Given the description of an element on the screen output the (x, y) to click on. 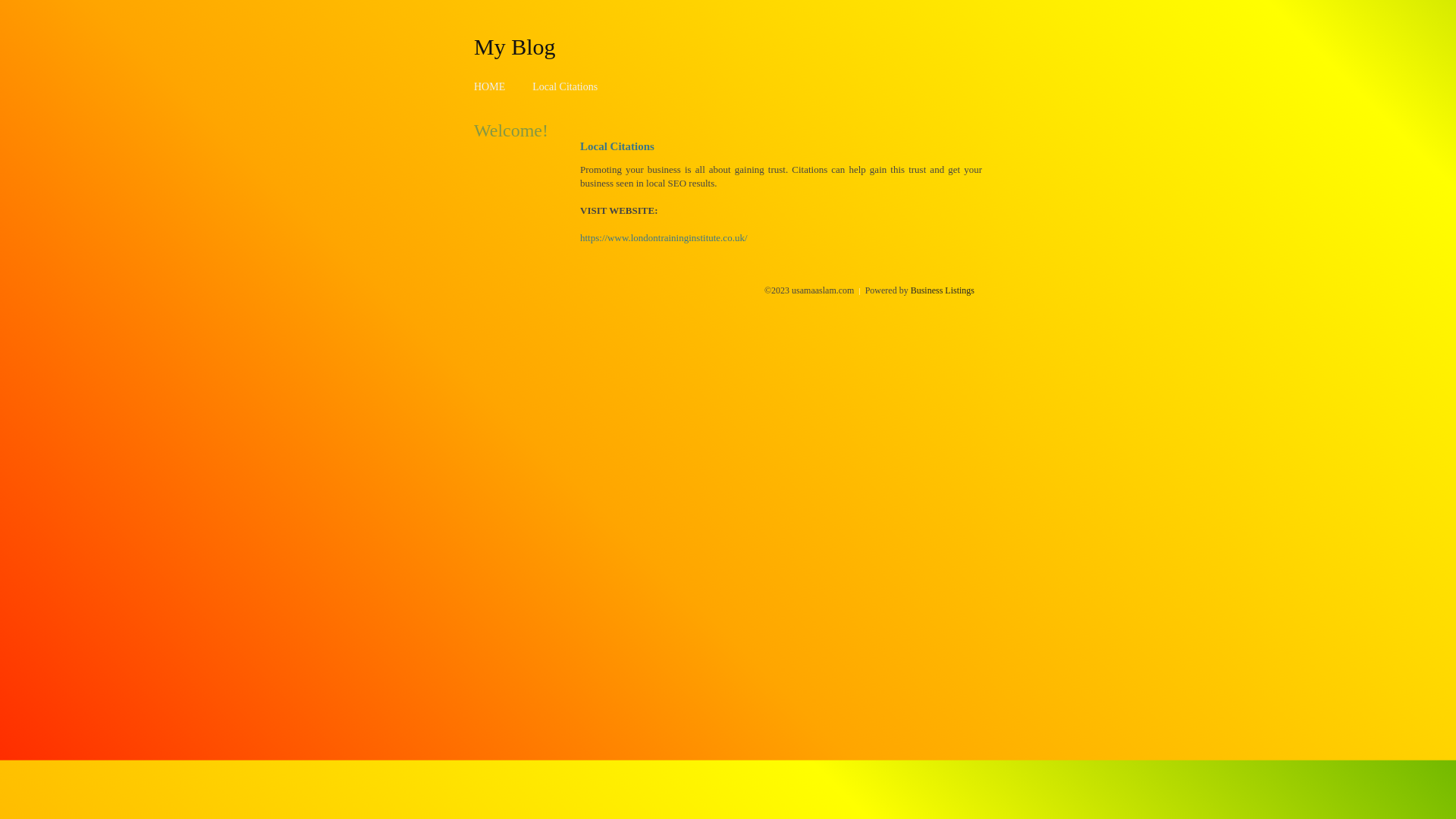
My Blog Element type: text (514, 46)
Business Listings Element type: text (942, 290)
HOME Element type: text (489, 86)
Local Citations Element type: text (564, 86)
https://www.londontraininginstitute.co.uk/ Element type: text (663, 237)
